Given the description of an element on the screen output the (x, y) to click on. 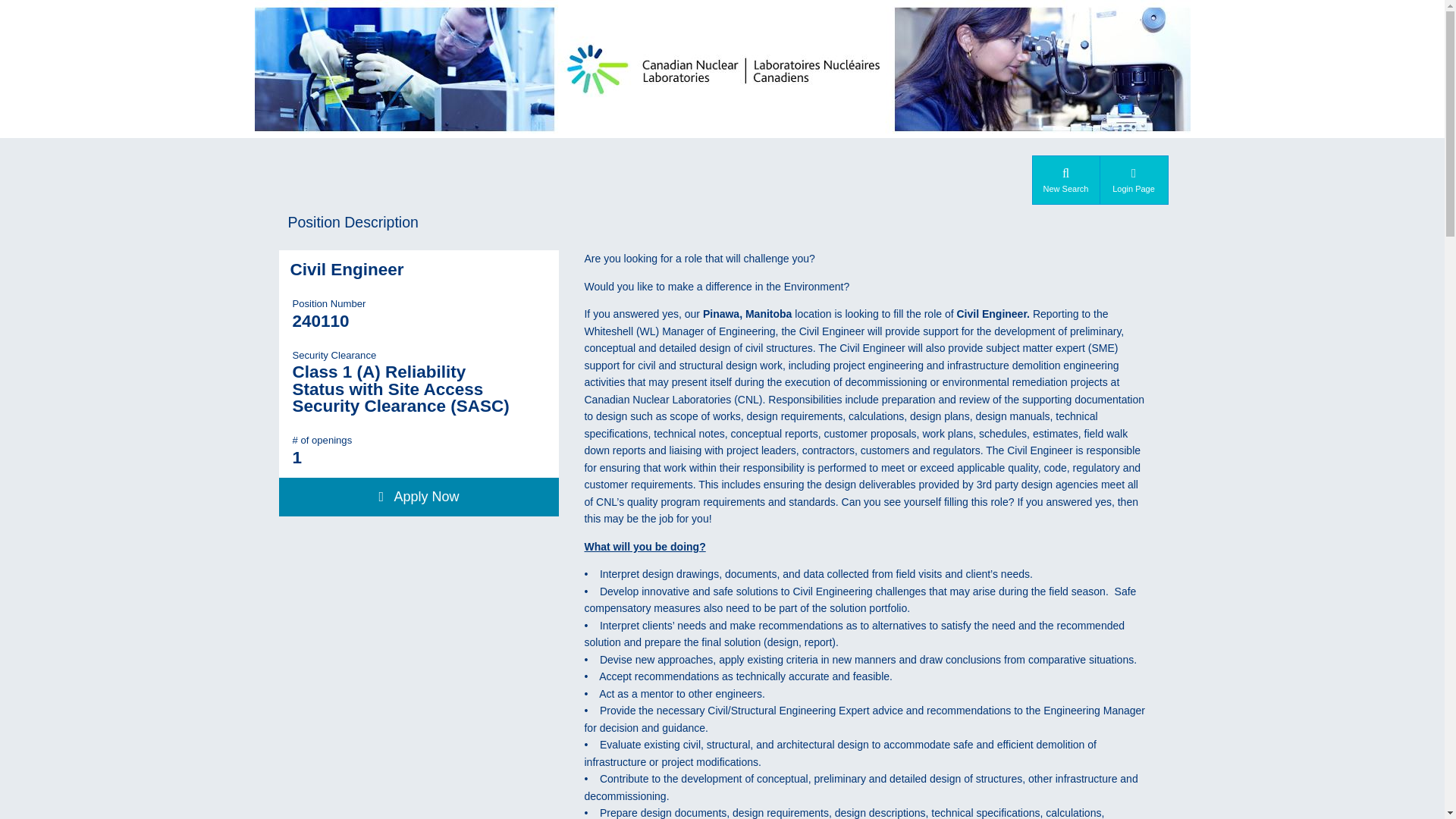
Apply Now (419, 496)
New Search (1064, 178)
Login Page (1133, 178)
